Given the description of an element on the screen output the (x, y) to click on. 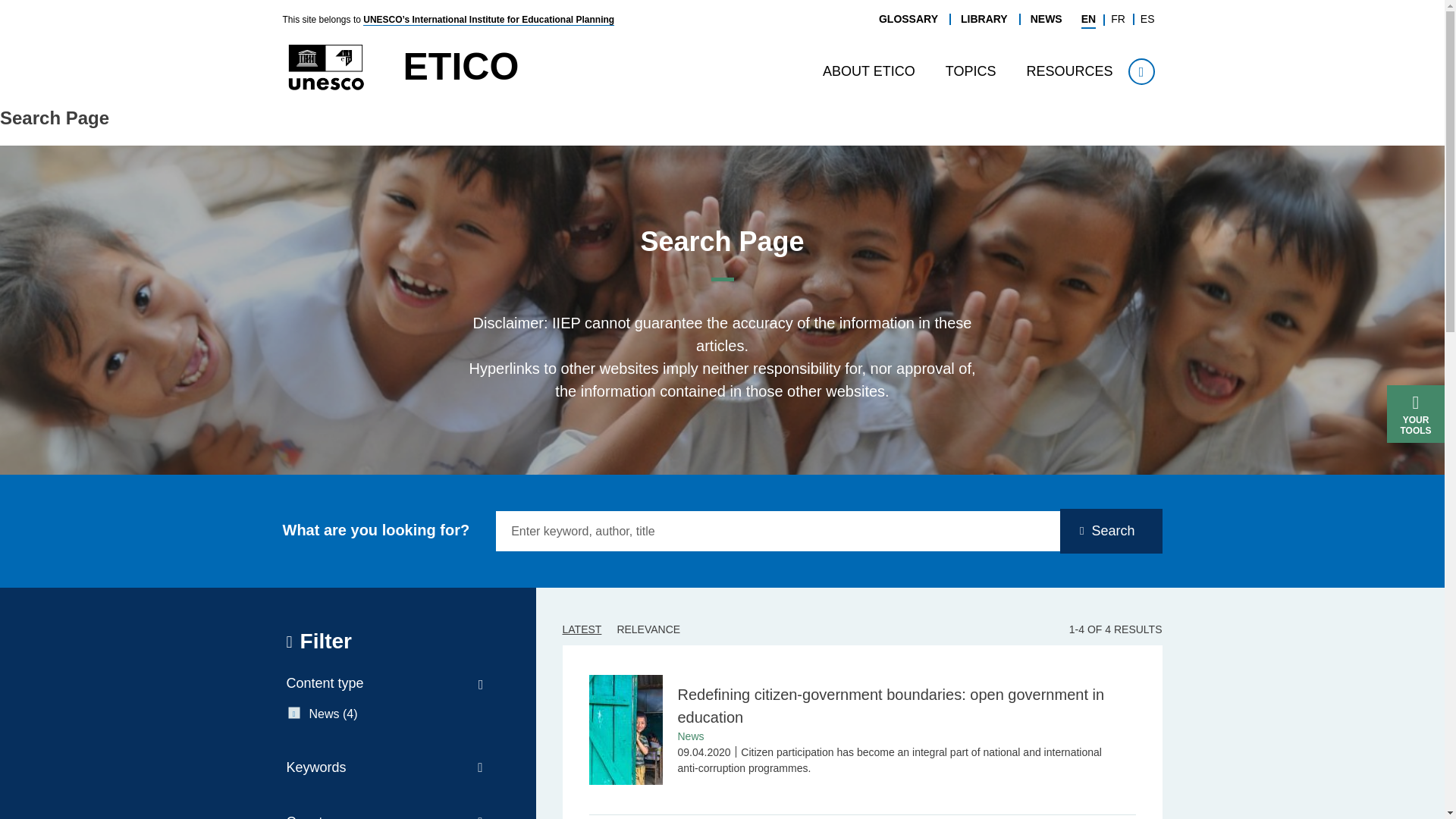
Spanish (1147, 19)
Search (1212, 99)
LIBRARY (983, 19)
ES (1147, 19)
RESOURCES (1068, 71)
NEWS (1046, 19)
GLOSSARY (908, 19)
FR (1117, 19)
ABOUT ETICO (869, 71)
Search (1141, 71)
